Given the description of an element on the screen output the (x, y) to click on. 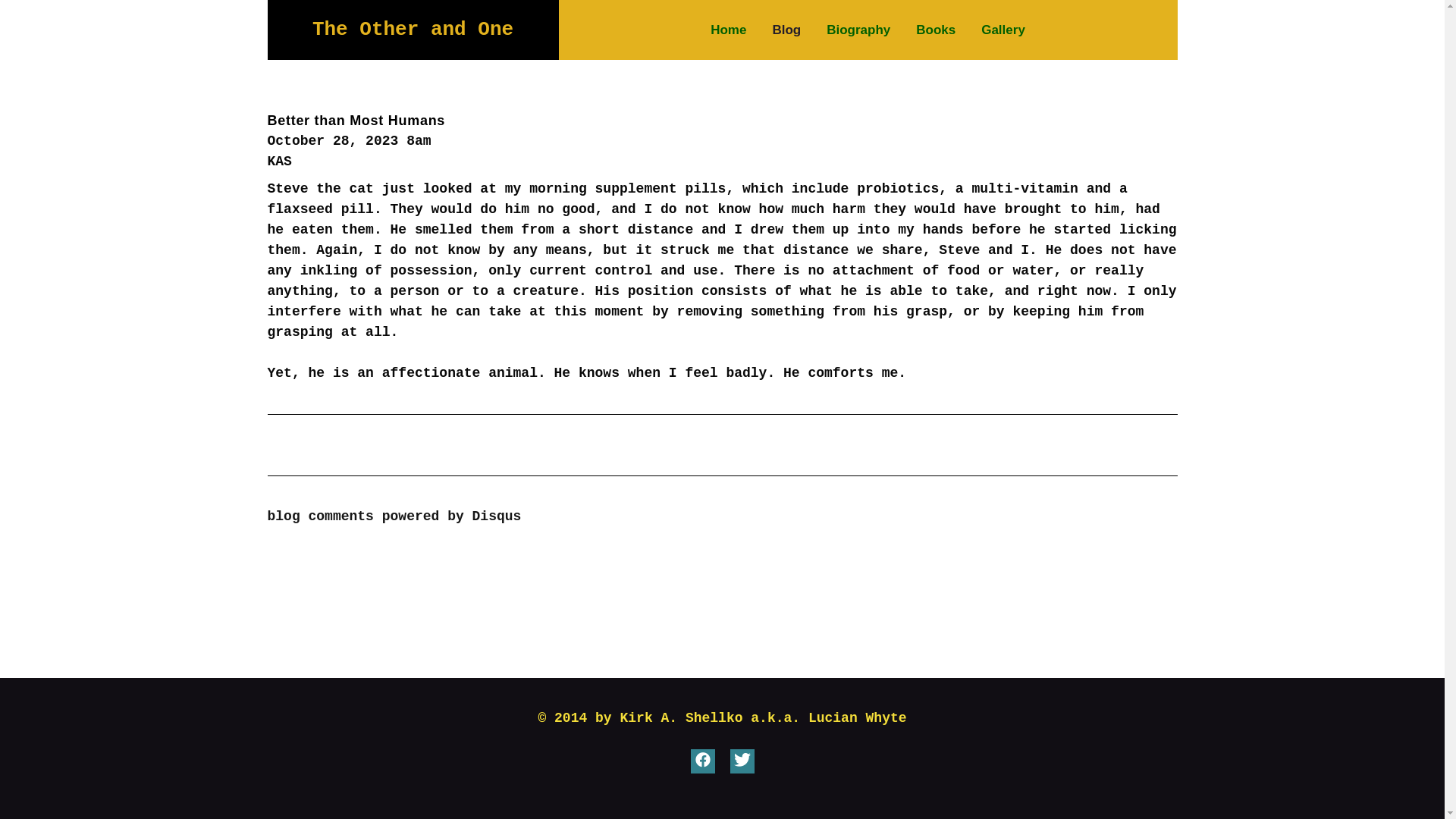
Biography (858, 29)
The Other and One (413, 29)
Gallery (1003, 29)
blog comments powered by Disqus (393, 516)
Home (727, 29)
Books (935, 29)
Blog (785, 29)
